Given the description of an element on the screen output the (x, y) to click on. 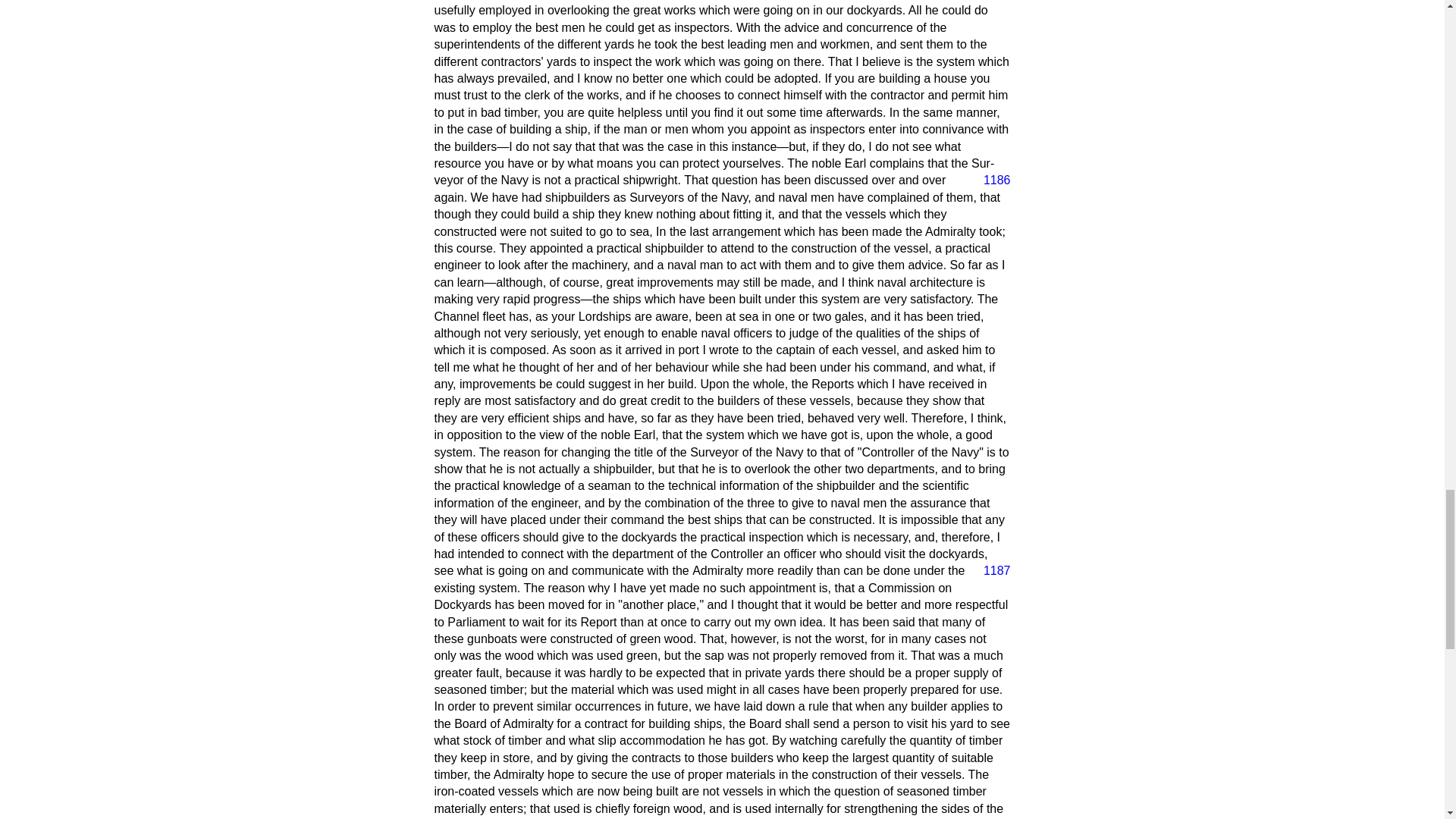
1187 (990, 570)
1186 (990, 180)
